Given the description of an element on the screen output the (x, y) to click on. 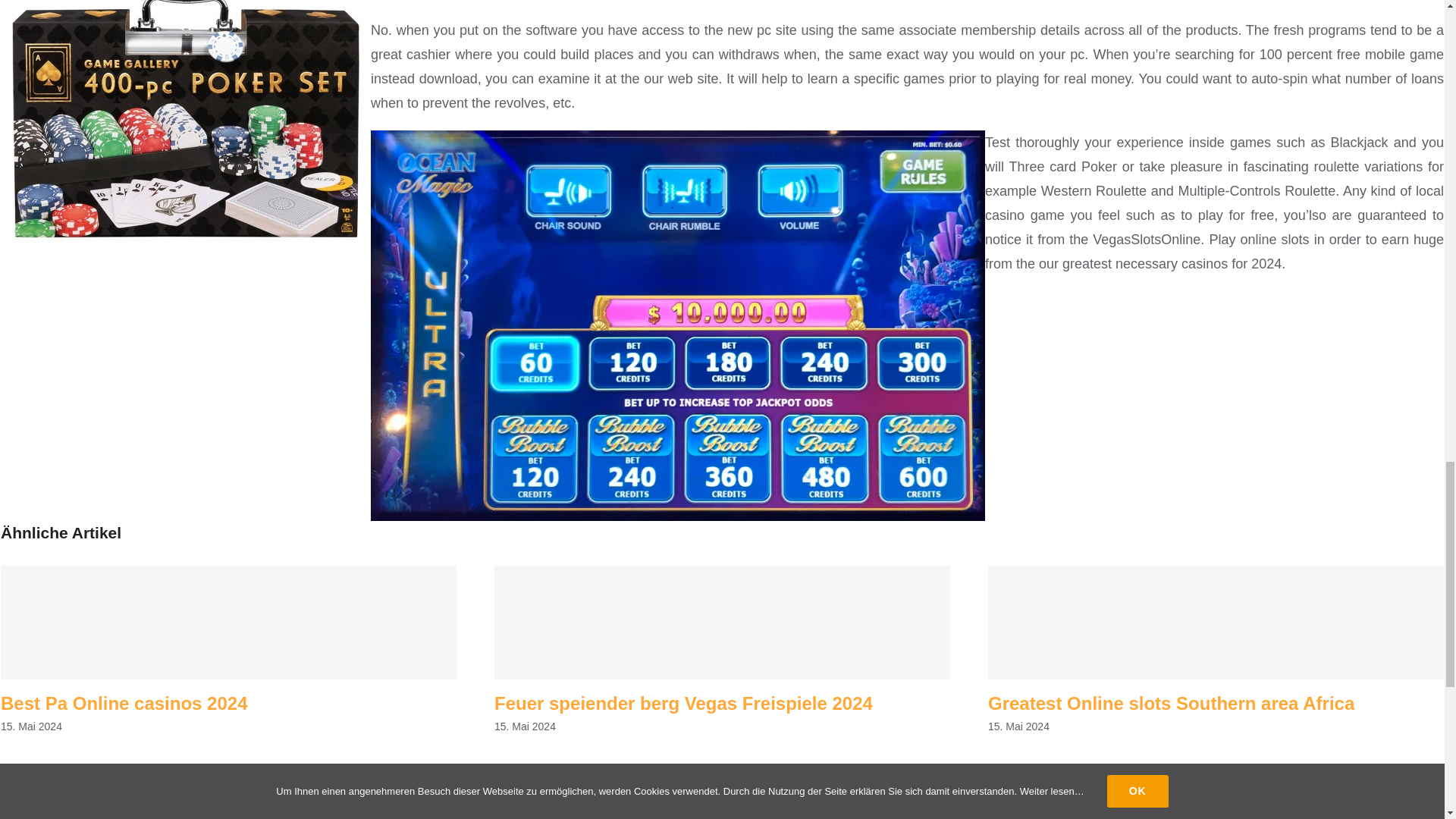
Greatest Online slots Southern area Africa (1171, 702)
Best Pa Online casinos 2024 (124, 702)
Best Pa Online casinos 2024 (124, 702)
Feuer speiender berg Vegas Freispiele 2024 (683, 702)
Feuer speiender berg Vegas Freispiele 2024 (683, 702)
Greatest Online slots Southern area Africa (1171, 702)
